Given the description of an element on the screen output the (x, y) to click on. 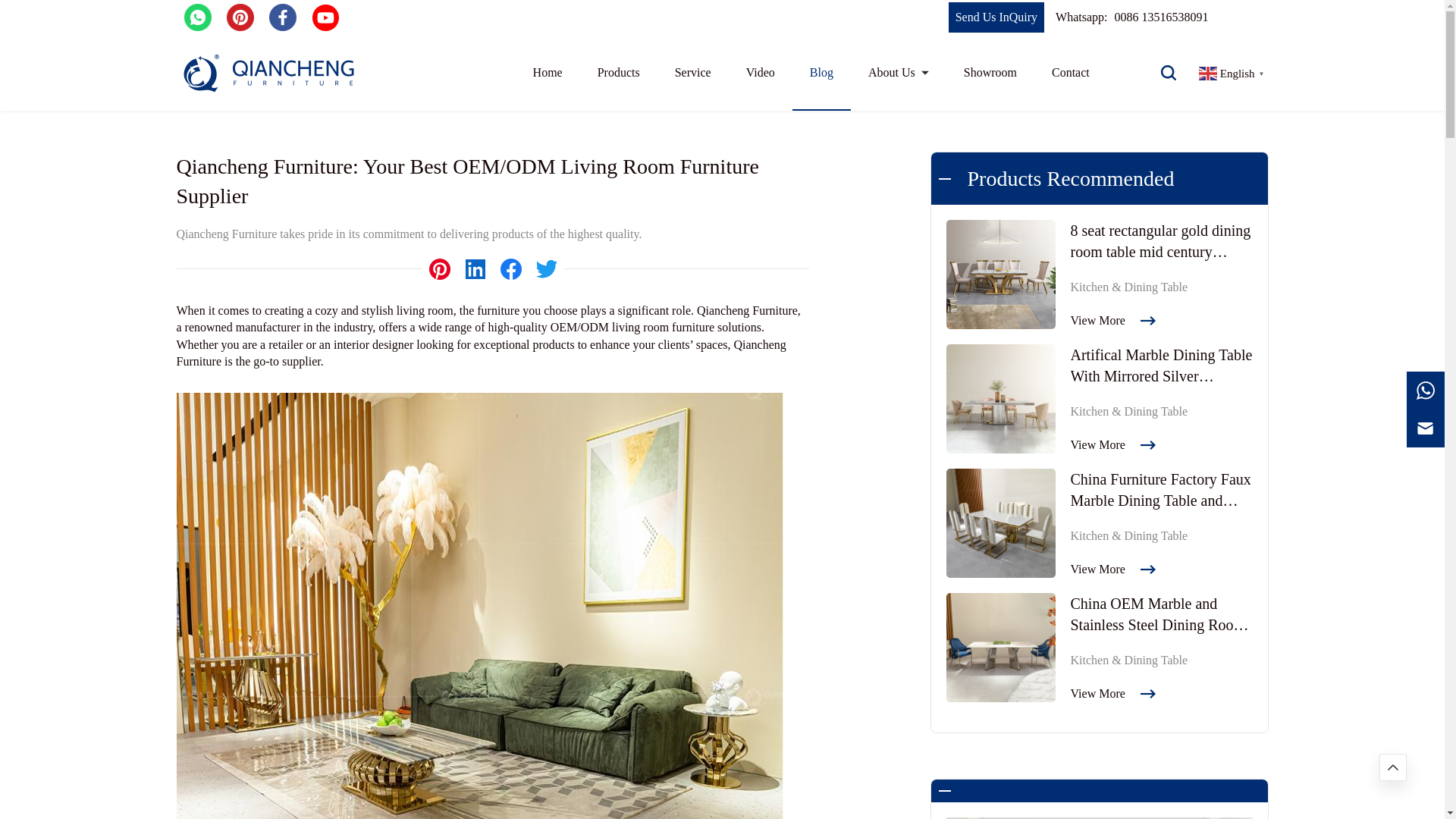
About Us (898, 72)
0086 13516538091 (1160, 27)
Products (618, 83)
Service (693, 72)
Send Us InQuiry (996, 29)
